Given the description of an element on the screen output the (x, y) to click on. 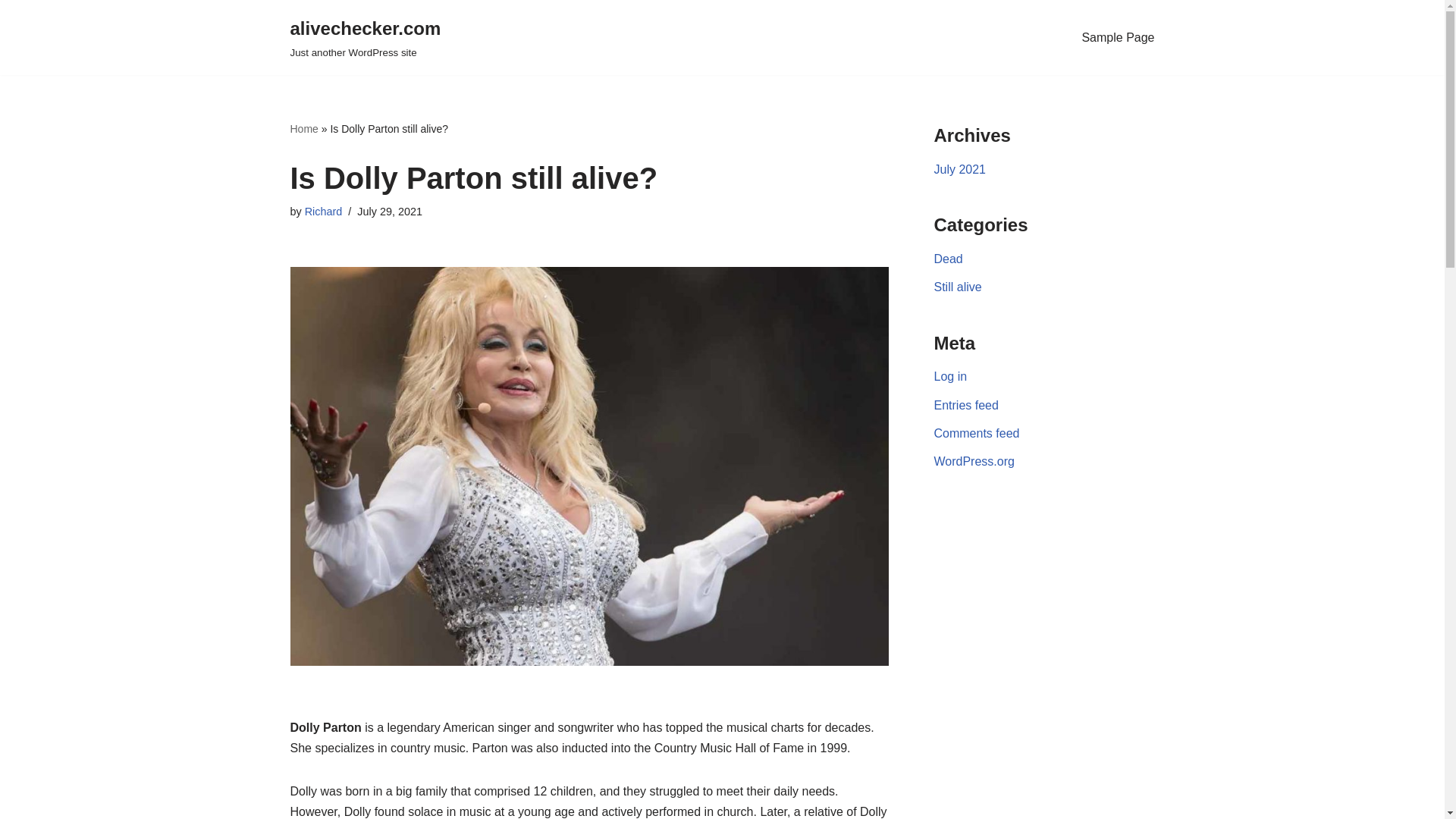
Posts by Richard (323, 211)
Log in (951, 376)
Still alive (957, 286)
Sample Page (1117, 37)
Dead (948, 258)
Skip to content (11, 31)
July 2021 (960, 169)
Entries feed (966, 404)
Richard (365, 37)
WordPress.org (323, 211)
Home (974, 461)
Comments feed (303, 128)
